Given the description of an element on the screen output the (x, y) to click on. 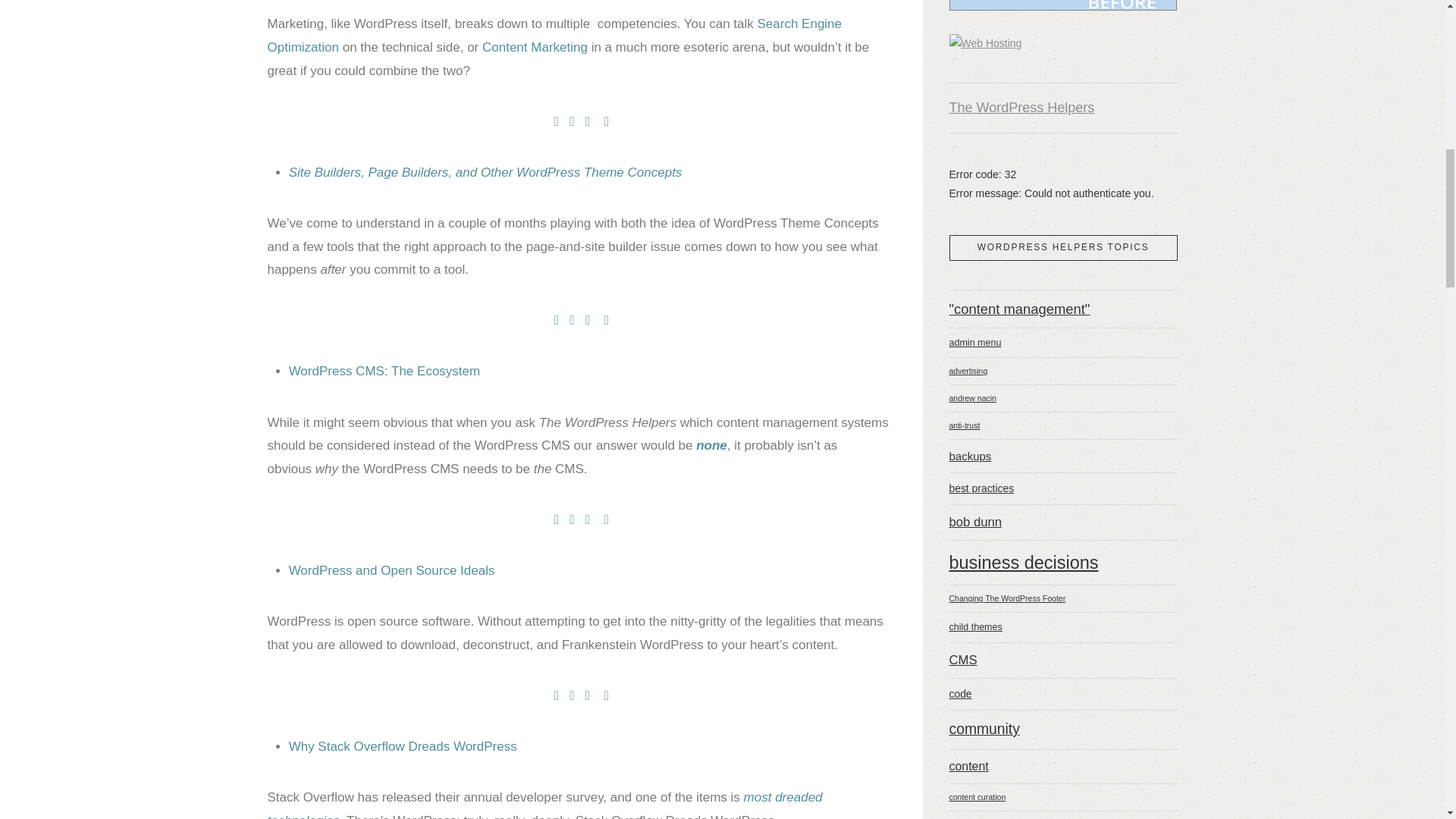
WordPress Content Marketing (534, 47)
WordPress Search Engine Optimization (553, 35)
When Should You Use WordPress? (710, 445)
The WordPress CMS Ecosystem (384, 370)
WordPress Open Source Ideals (391, 570)
WordPress Sitebuilders and Theme Concepts (485, 172)
Why Stack Overflow Dreads WordPress (402, 746)
